Given the description of an element on the screen output the (x, y) to click on. 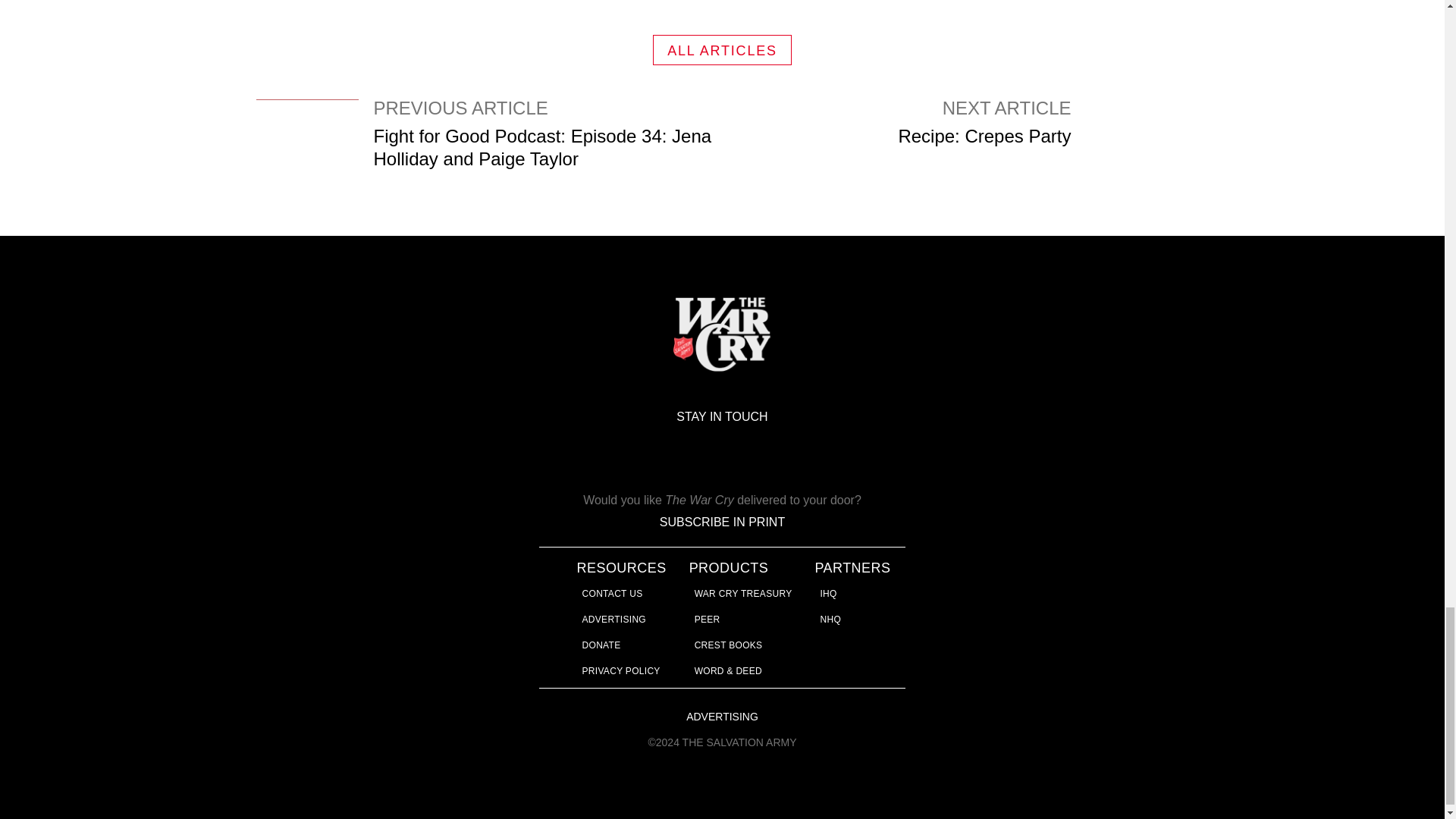
PRIVACY POLICY (621, 670)
DONATE (1043, 150)
CONTACT US (601, 644)
ADVERTISING (612, 593)
ALL ARTICLES (614, 619)
SUBSCRIBE IN PRINT (722, 50)
